Given the description of an element on the screen output the (x, y) to click on. 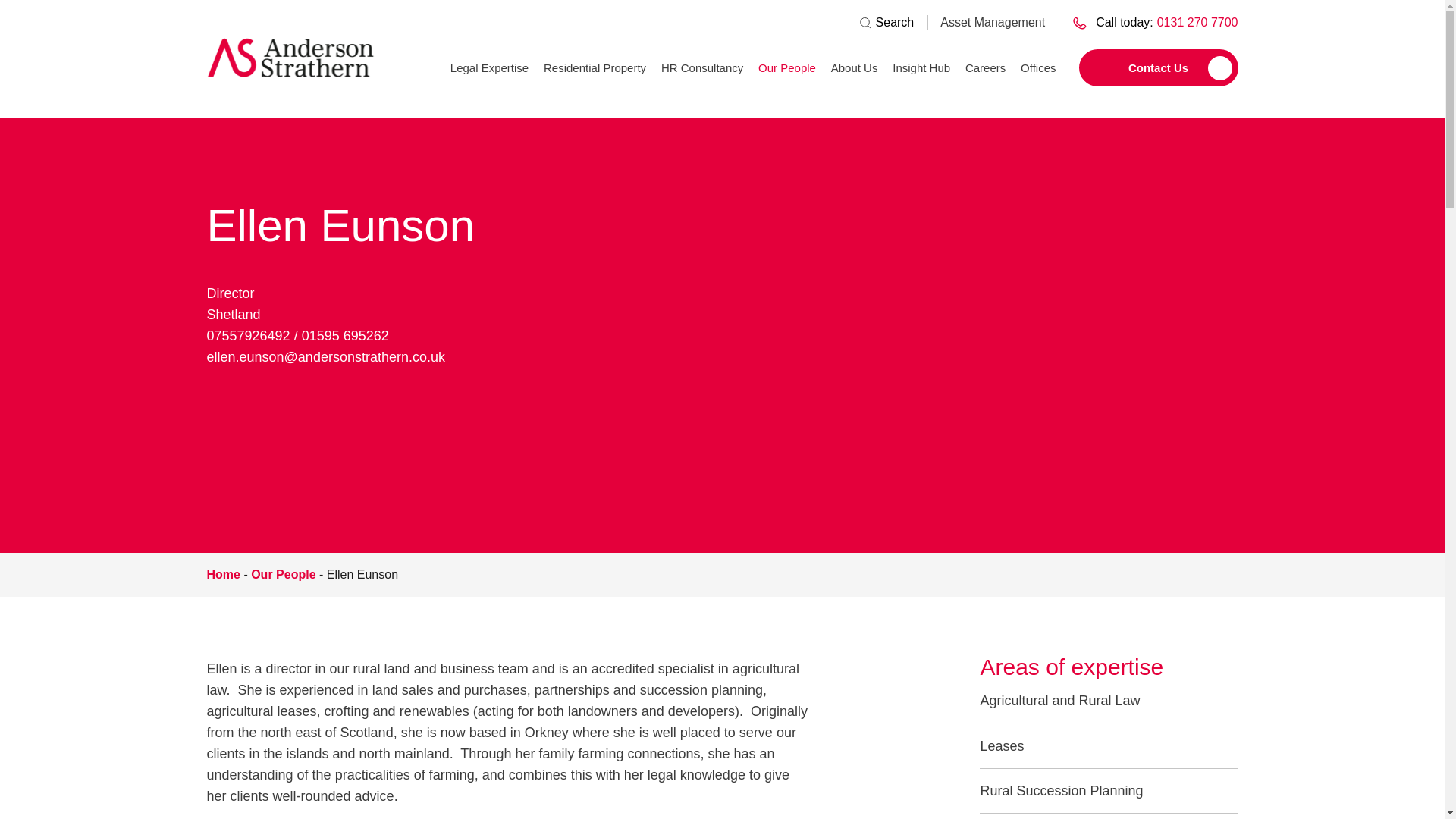
Legal Expertise (488, 73)
Asset Management (1148, 22)
